Given the description of an element on the screen output the (x, y) to click on. 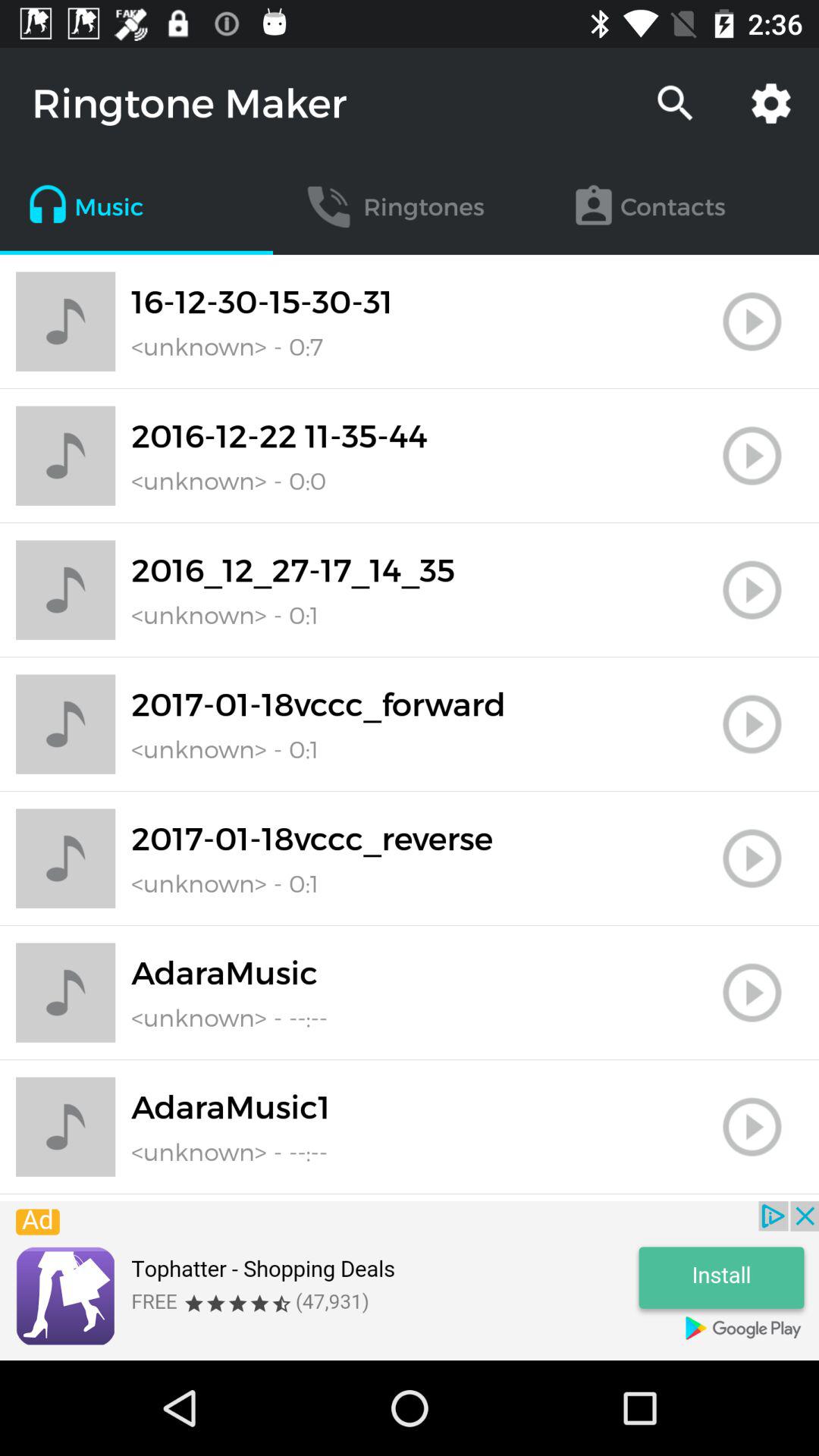
stop button (752, 590)
